Given the description of an element on the screen output the (x, y) to click on. 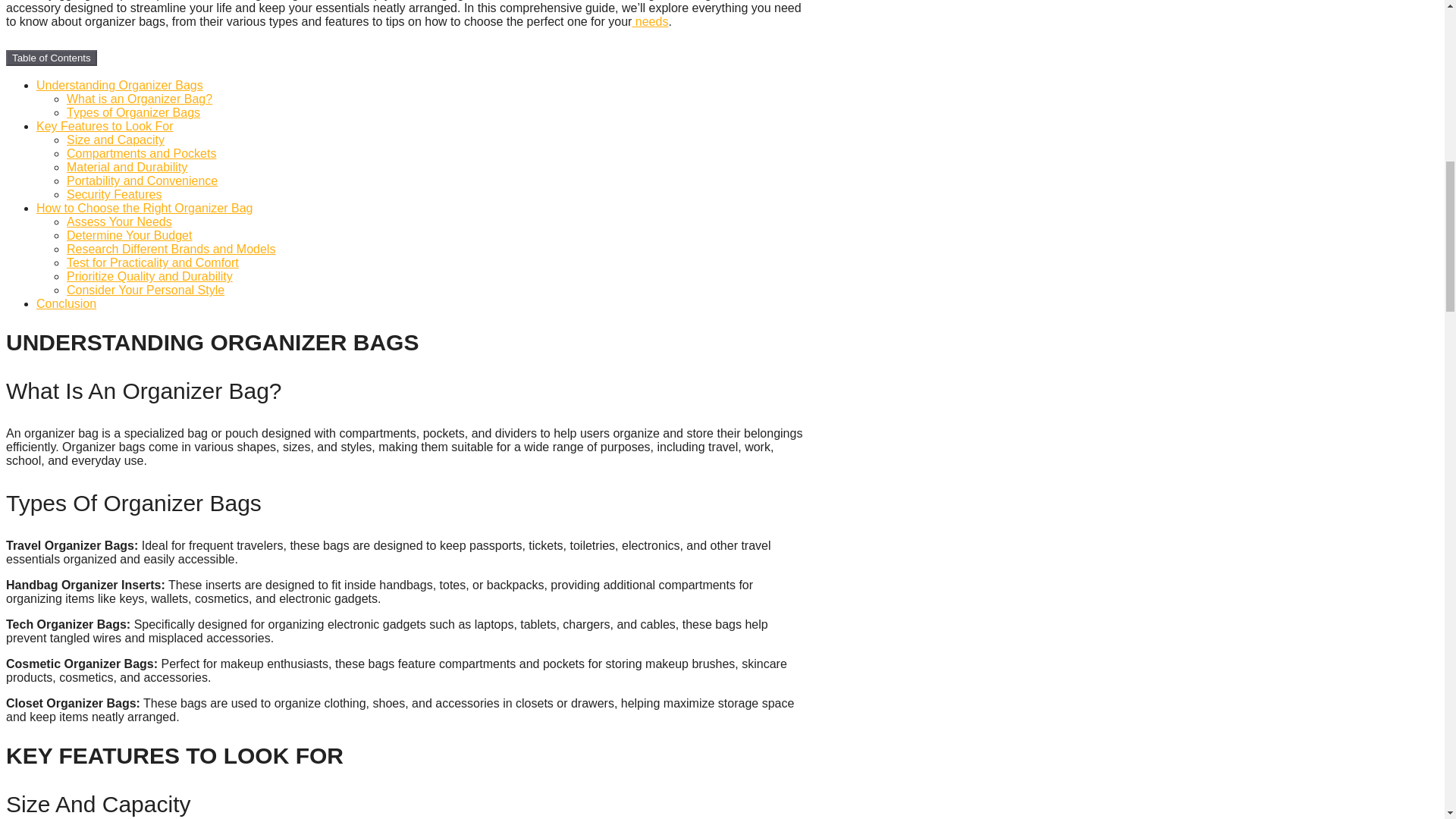
What is an Organizer Bag? (139, 98)
needs (649, 21)
Portability and Convenience (141, 180)
Consider Your Personal Style (145, 289)
How to Choose the Right Organizer Bag (143, 207)
Security Features (113, 194)
Assess Your Needs (118, 221)
Size and Capacity (115, 139)
Understanding Organizer Bags (119, 84)
Determine Your Budget (129, 235)
Types of Organizer Bags (133, 112)
Material and Durability (126, 166)
Research Different Brands and Models (170, 248)
Test for Practicality and Comfort (152, 262)
Prioritize Quality and Durability (149, 276)
